Given the description of an element on the screen output the (x, y) to click on. 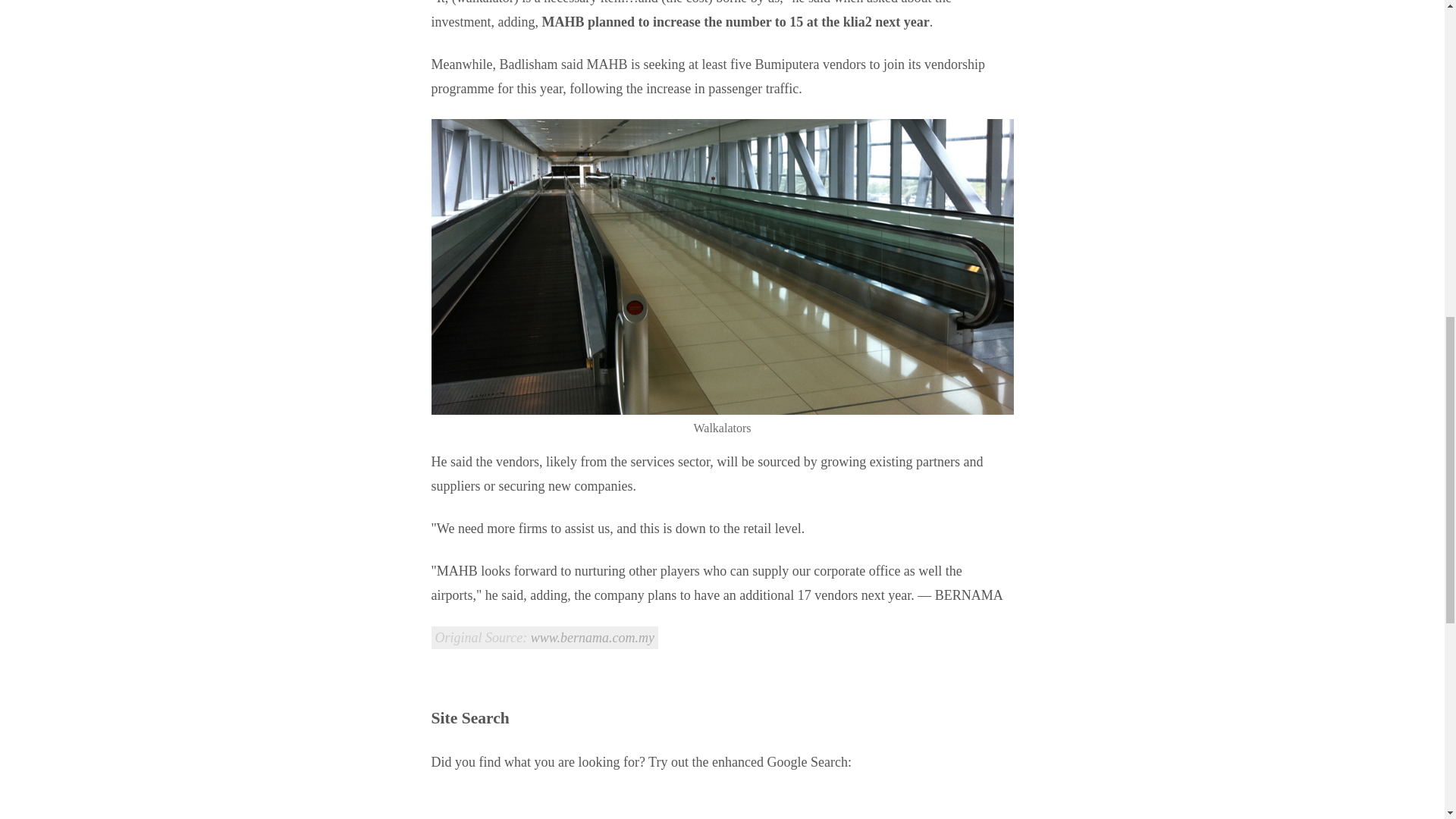
www.bernama.com.my (592, 637)
